Given the description of an element on the screen output the (x, y) to click on. 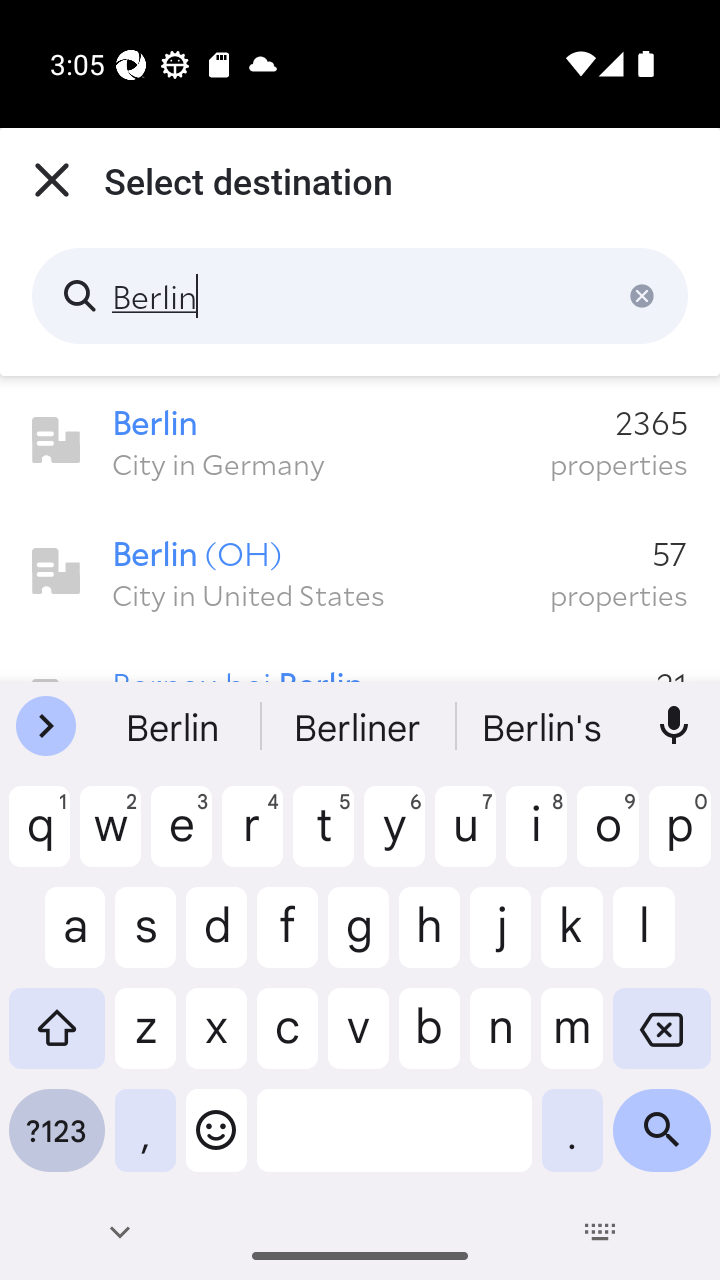
Berlin (359, 296)
Berlin 2365 City in Germany properties (360, 441)
Berlin (OH) 57 City in United States properties (360, 571)
